Given the description of an element on the screen output the (x, y) to click on. 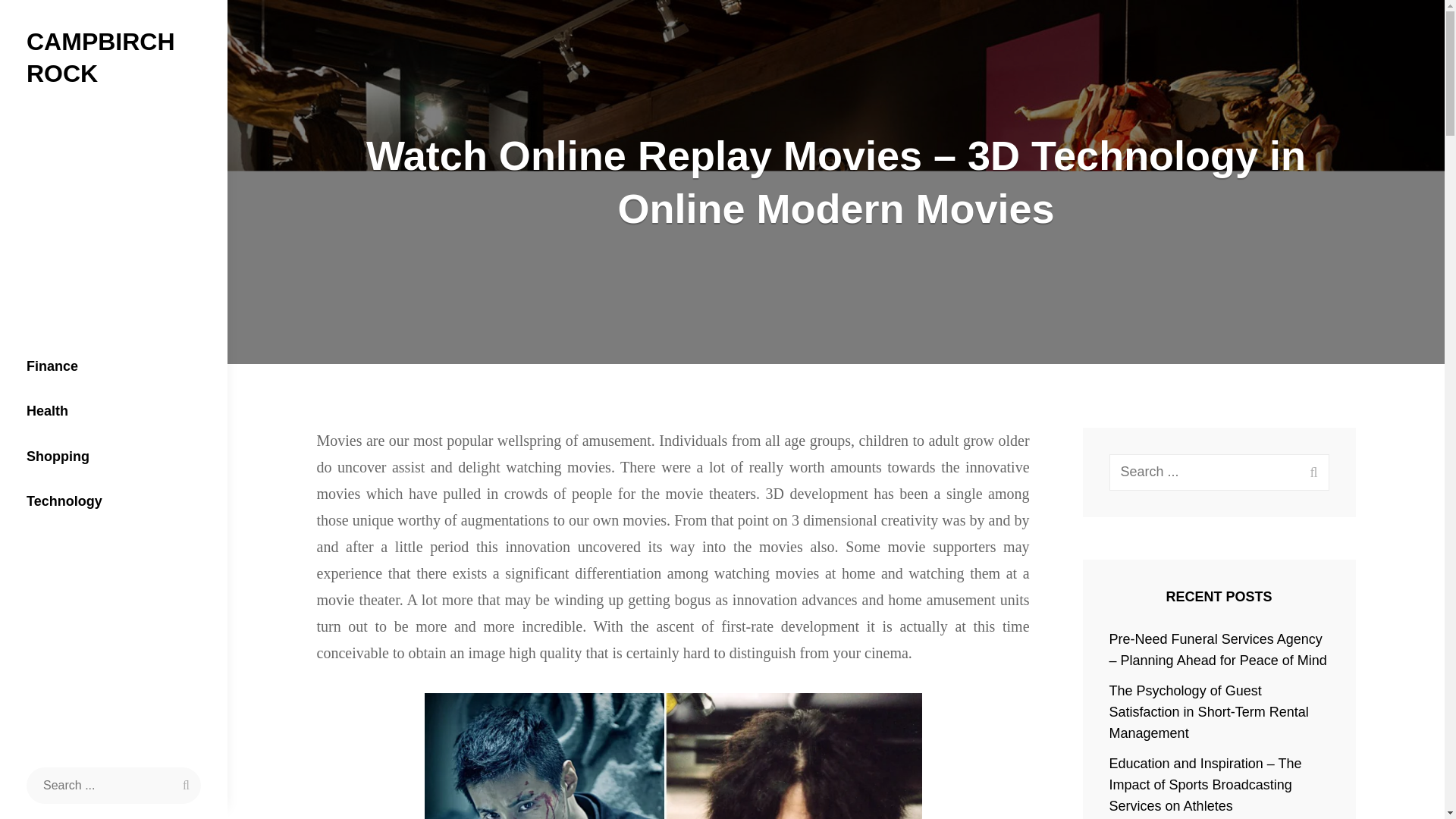
Shopping (113, 456)
CAMPBIRCH ROCK (100, 56)
Technology (113, 501)
Search for: (113, 785)
Search for: (1219, 471)
Finance (113, 366)
Health (113, 411)
